Given the description of an element on the screen output the (x, y) to click on. 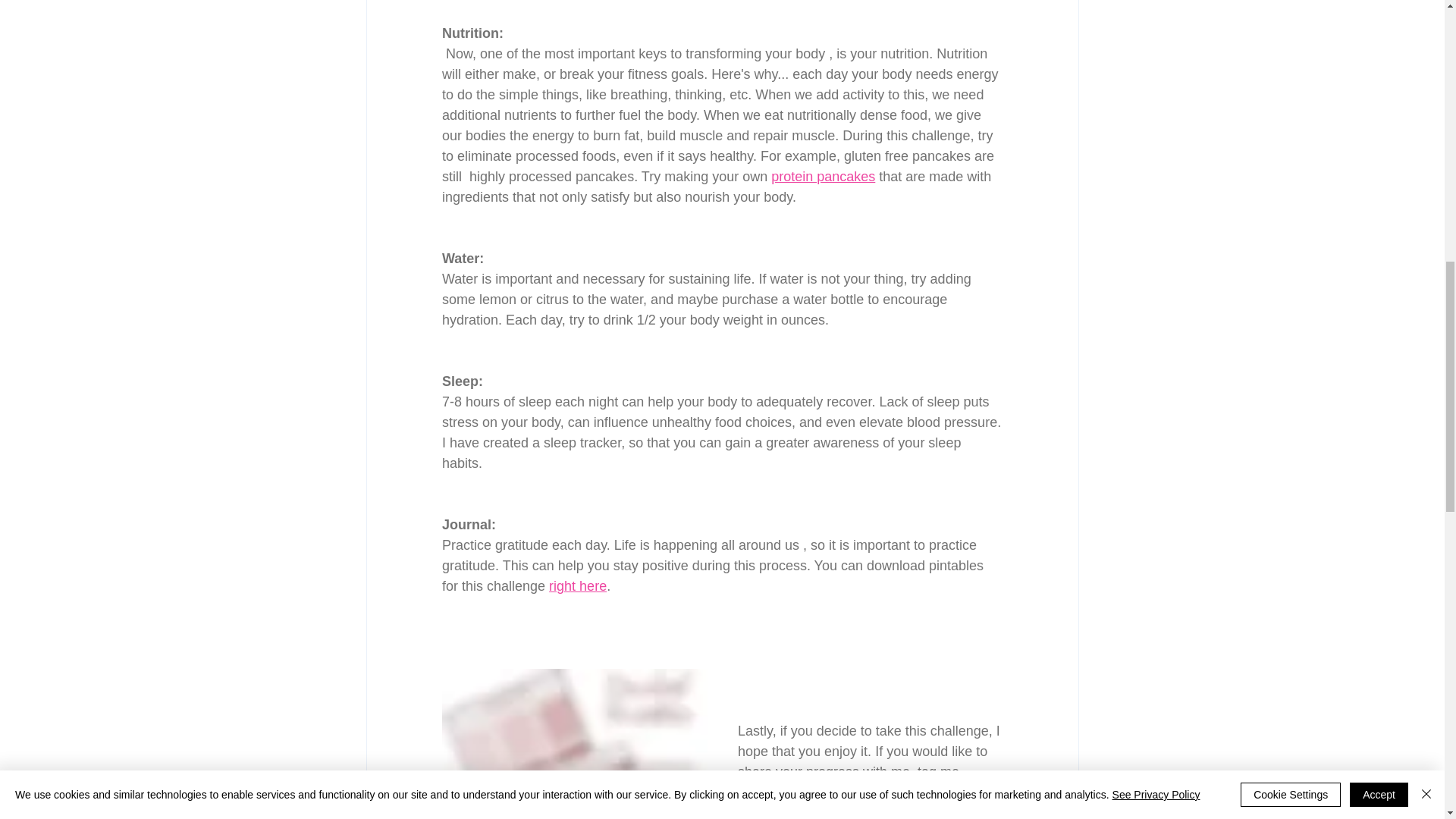
protein pancakes (823, 176)
right here (577, 585)
